Given the description of an element on the screen output the (x, y) to click on. 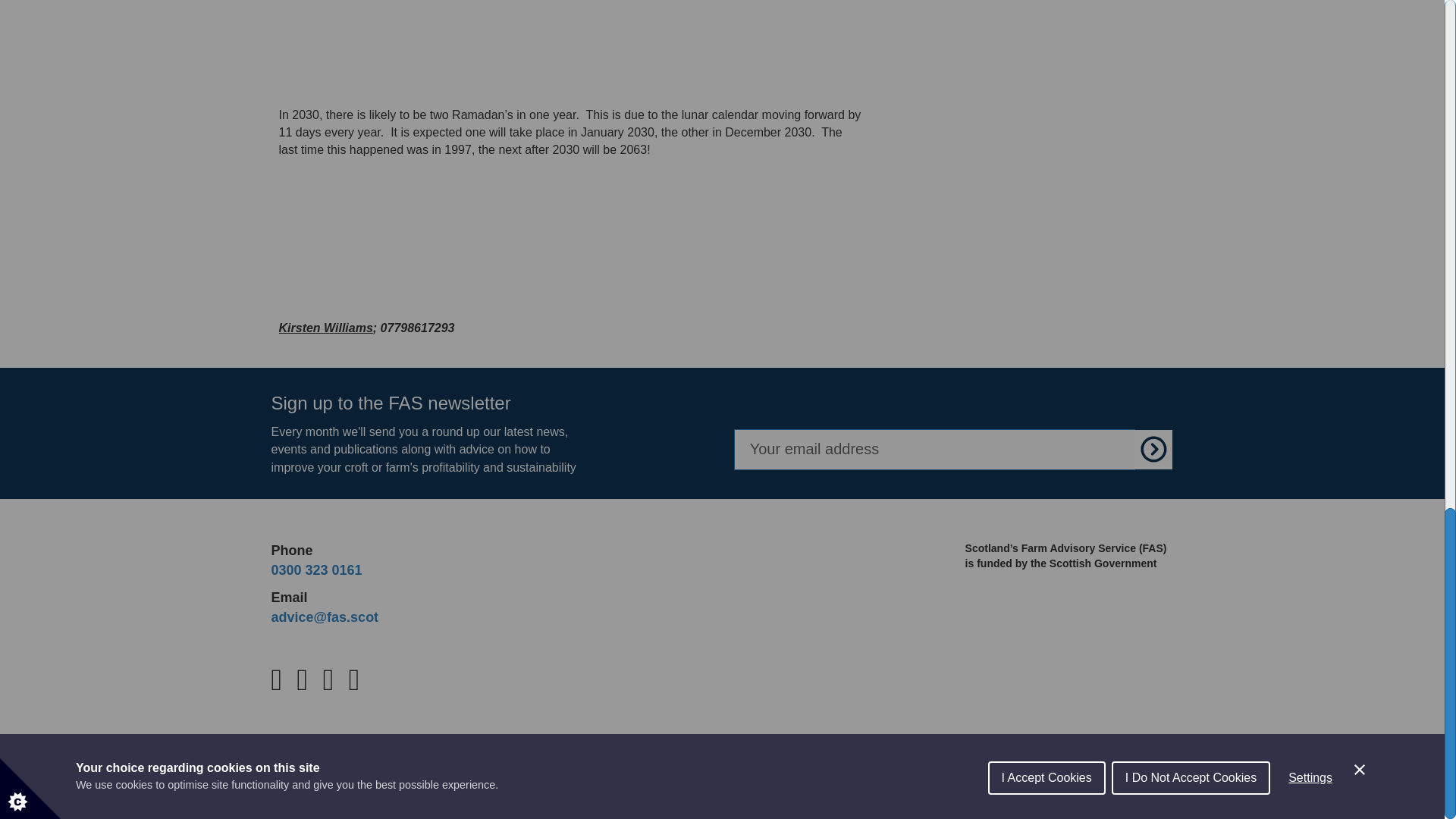
Submit (1154, 449)
